Given the description of an element on the screen output the (x, y) to click on. 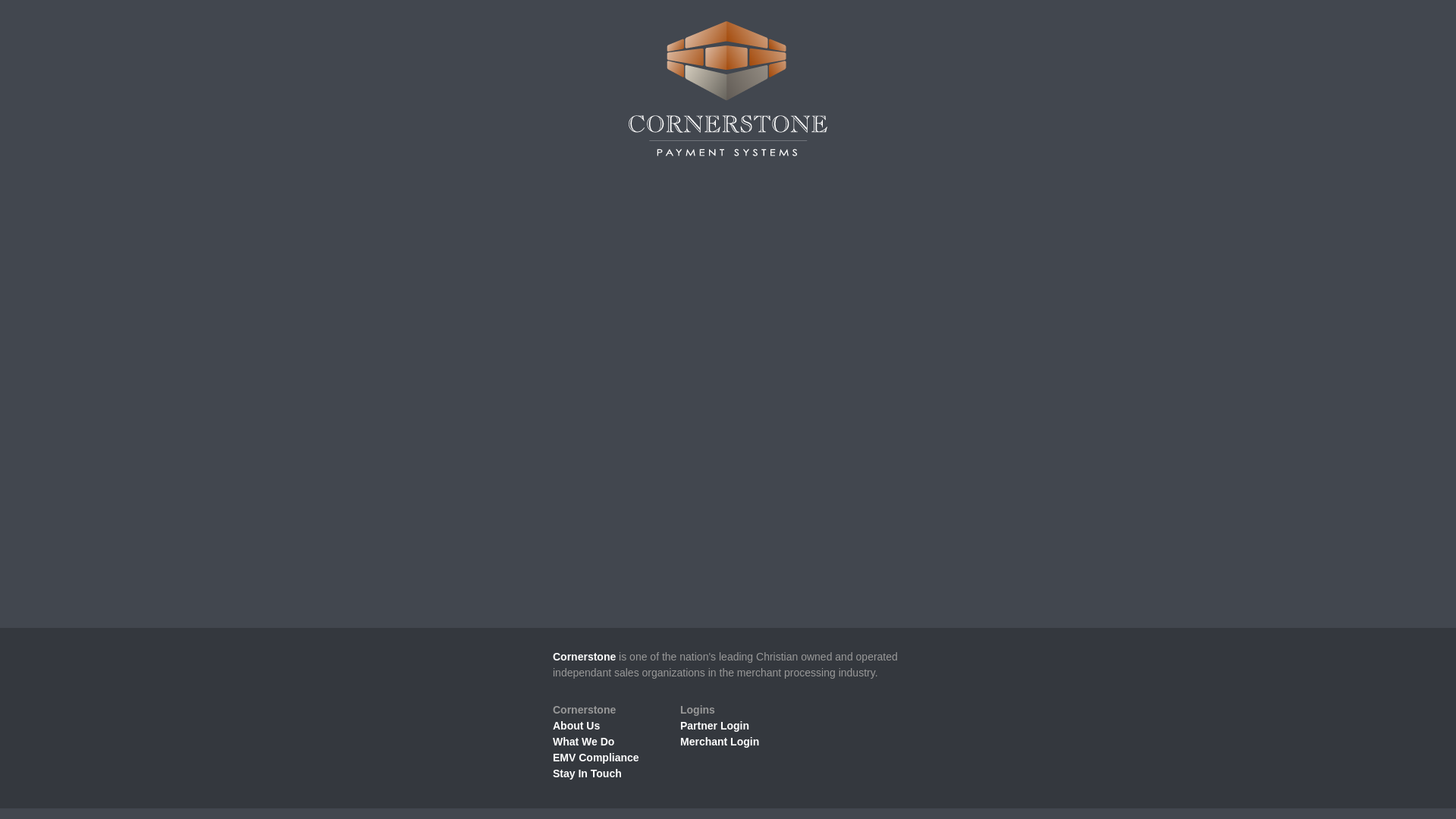
Merchant Login (718, 741)
Cornerstone (584, 656)
About Us (576, 725)
What We Do (583, 741)
Partner Login (714, 725)
Stay In Touch (587, 773)
EMV Compliance (596, 757)
